Given the description of an element on the screen output the (x, y) to click on. 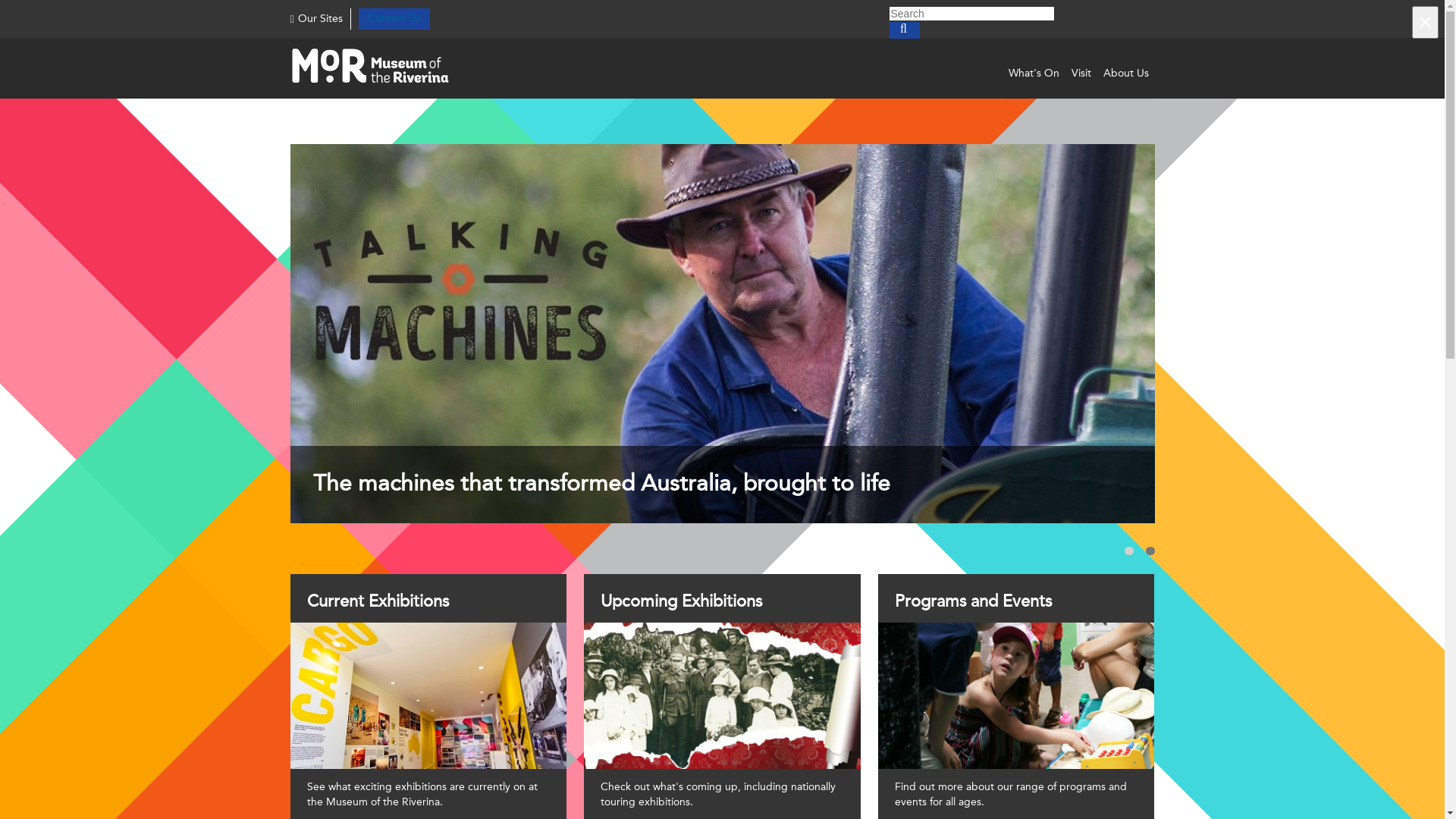
Visit Element type: text (1080, 73)
Contact Us Element type: text (393, 18)
2 Element type: text (1149, 550)
About Us Element type: text (1125, 73)
What's On Element type: text (1033, 73)
1 Element type: text (1127, 550)
Search Element type: hover (970, 13)
City of Wagga Wagga Element type: text (384, 67)
Our Sites Element type: text (315, 19)
The machines that transformed Australia, brought to life Element type: text (721, 333)
Search button Element type: hover (903, 29)
